Given the description of an element on the screen output the (x, y) to click on. 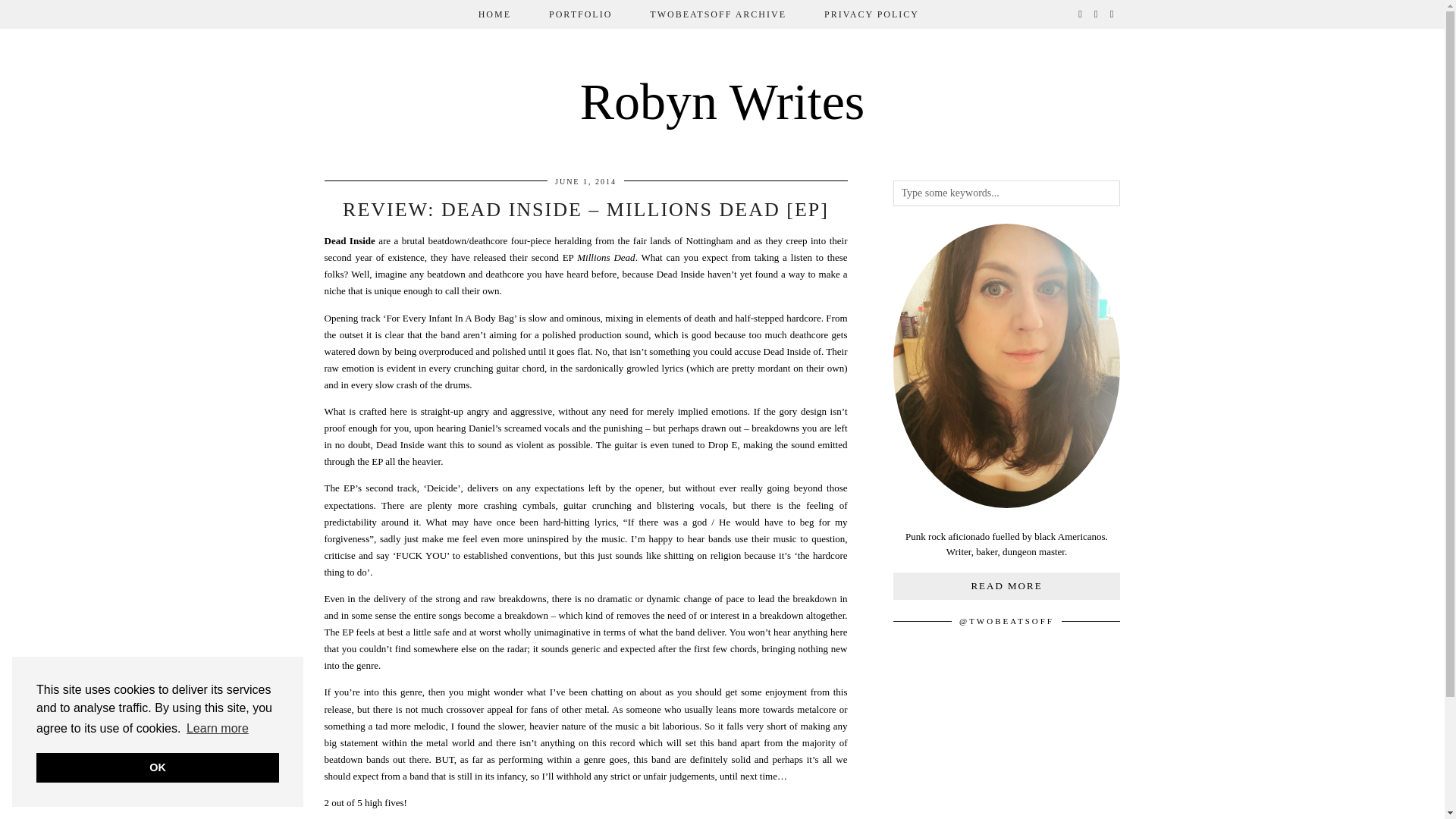
TWOBEATSOFF ARCHIVE (717, 14)
OK (157, 767)
Learn more (217, 728)
Robyn Writes (721, 101)
Twitter (1080, 14)
Robyn Writes (721, 101)
PORTFOLIO (579, 14)
Email (1112, 14)
PRIVACY POLICY (871, 14)
Instagram (1096, 14)
HOME (494, 14)
READ MORE (1007, 585)
